Given the description of an element on the screen output the (x, y) to click on. 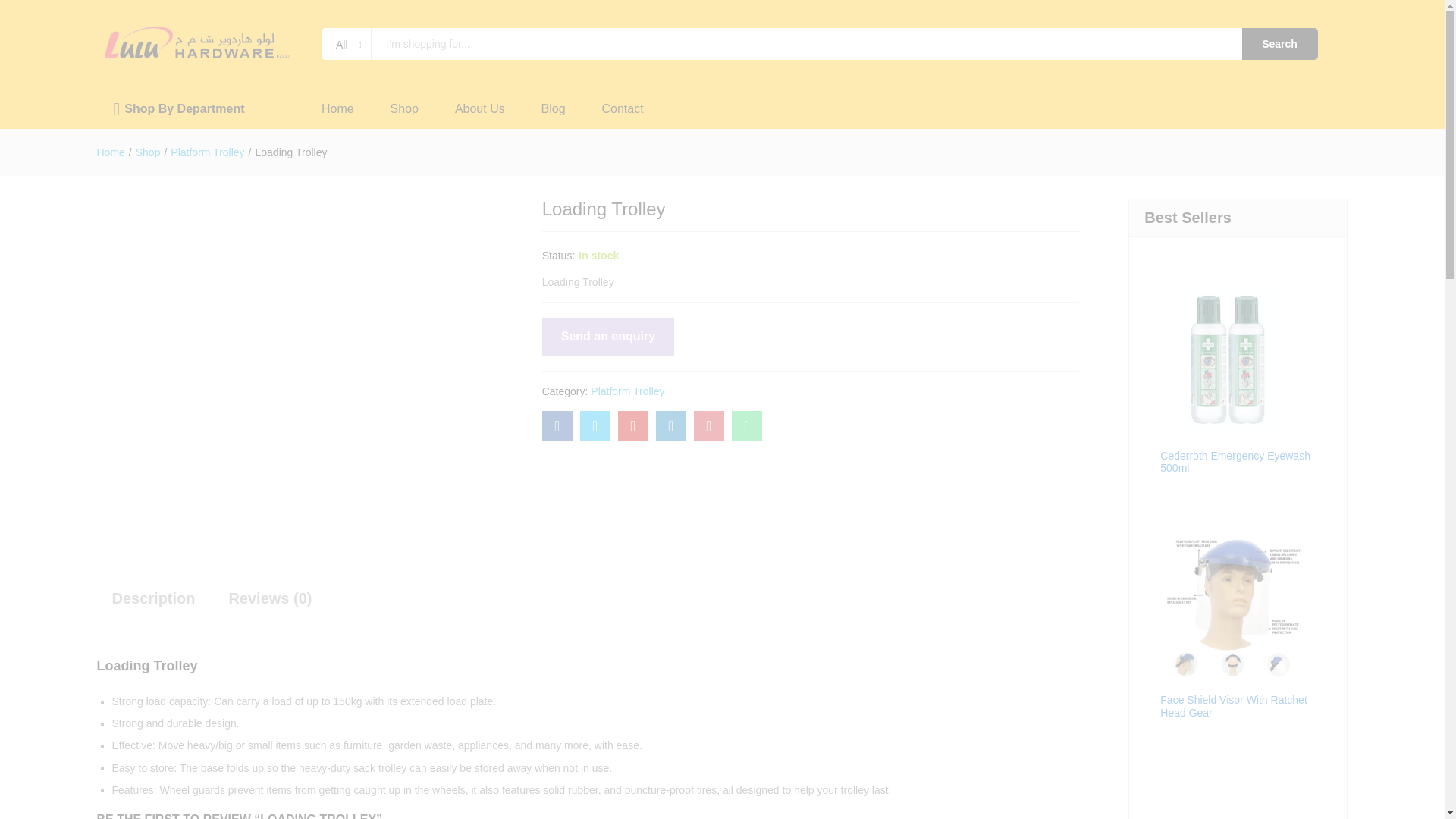
Blog (553, 109)
Loading Trolley (632, 426)
Home (337, 109)
Contact (622, 109)
Shop (404, 109)
Search (1279, 43)
Loading Trolley (556, 426)
Loading Trolley (746, 426)
Shop (147, 152)
Send an enquiry (607, 336)
Home (111, 152)
About Us (479, 109)
